Given the description of an element on the screen output the (x, y) to click on. 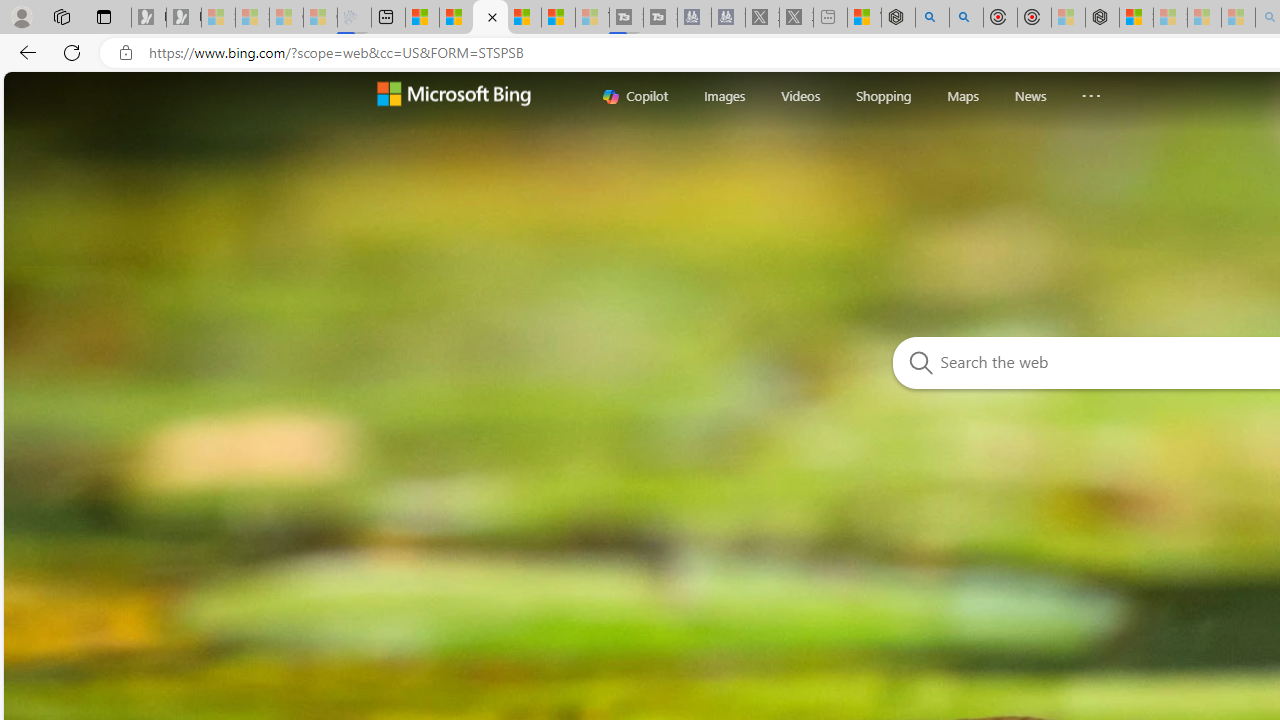
More (1090, 91)
Streaming Coverage | T3 - Sleeping (626, 17)
Nordace - Summer Adventures 2024 (898, 17)
Videos (800, 95)
Wildlife - MSN (863, 17)
Microsoft Start (557, 17)
Images (725, 95)
Images (725, 95)
